Given the description of an element on the screen output the (x, y) to click on. 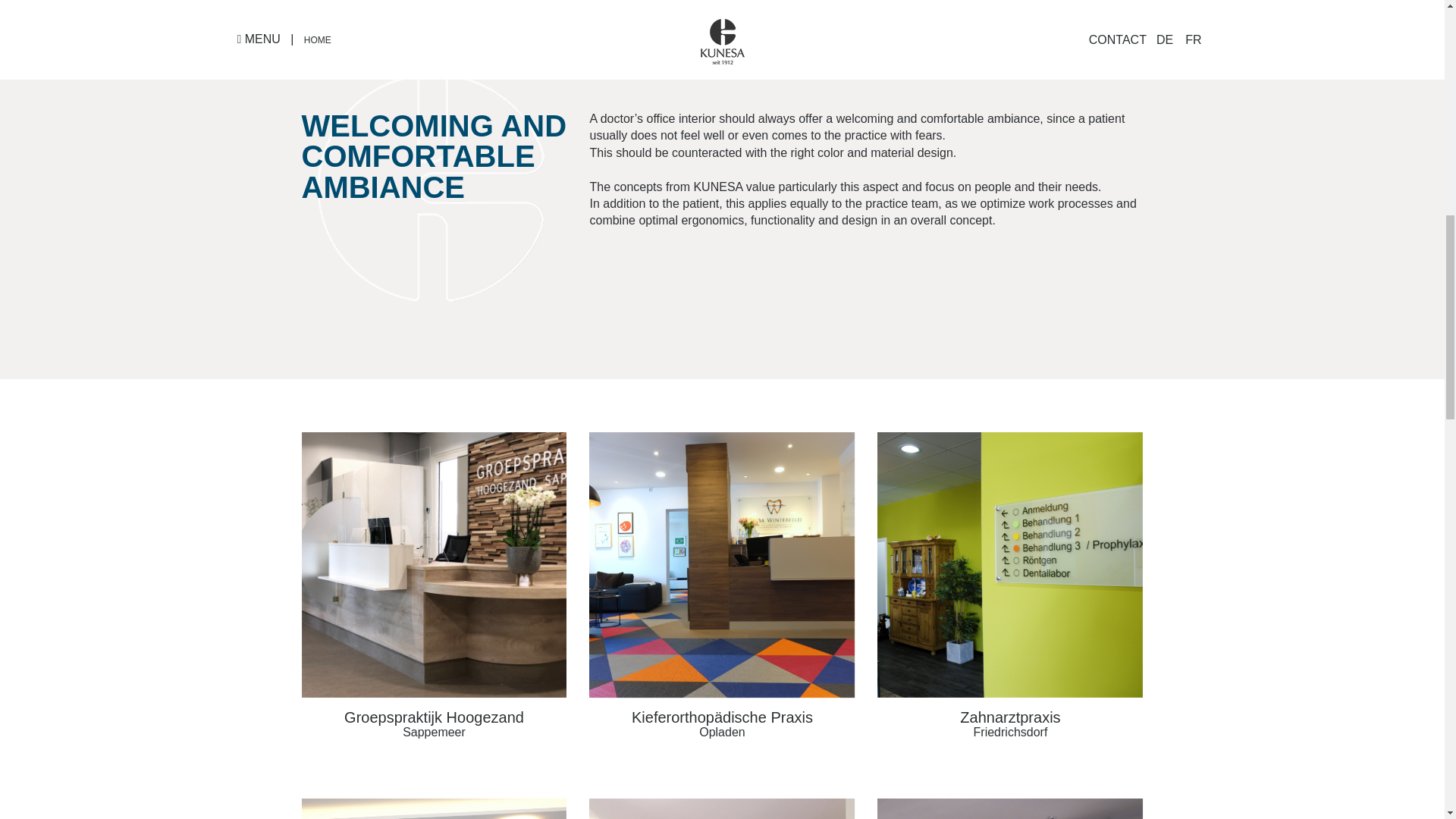
Zahnarztpraxis (1009, 564)
 Kardiologische Praxis (434, 808)
Groepspraktijk  Hoogezand (434, 564)
